Given the description of an element on the screen output the (x, y) to click on. 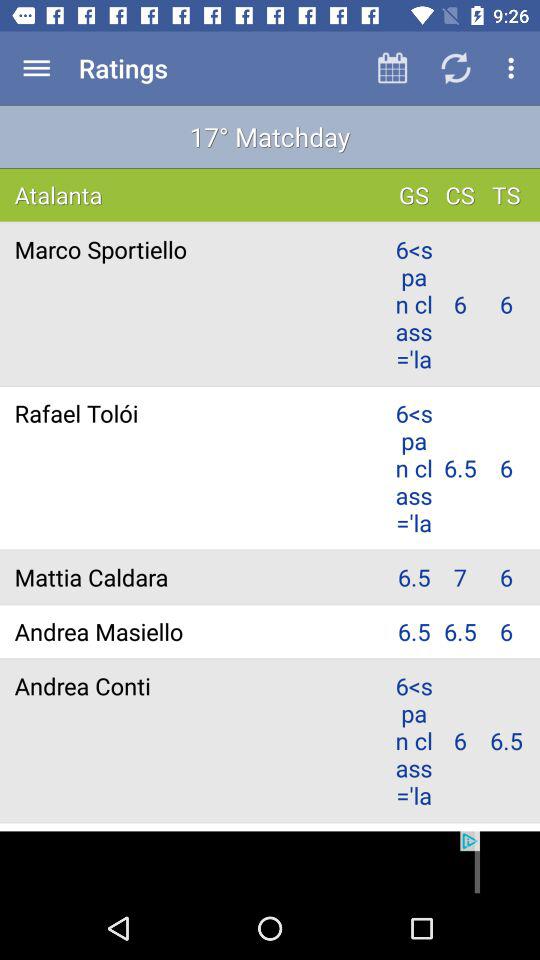
advertising (270, 864)
